Given the description of an element on the screen output the (x, y) to click on. 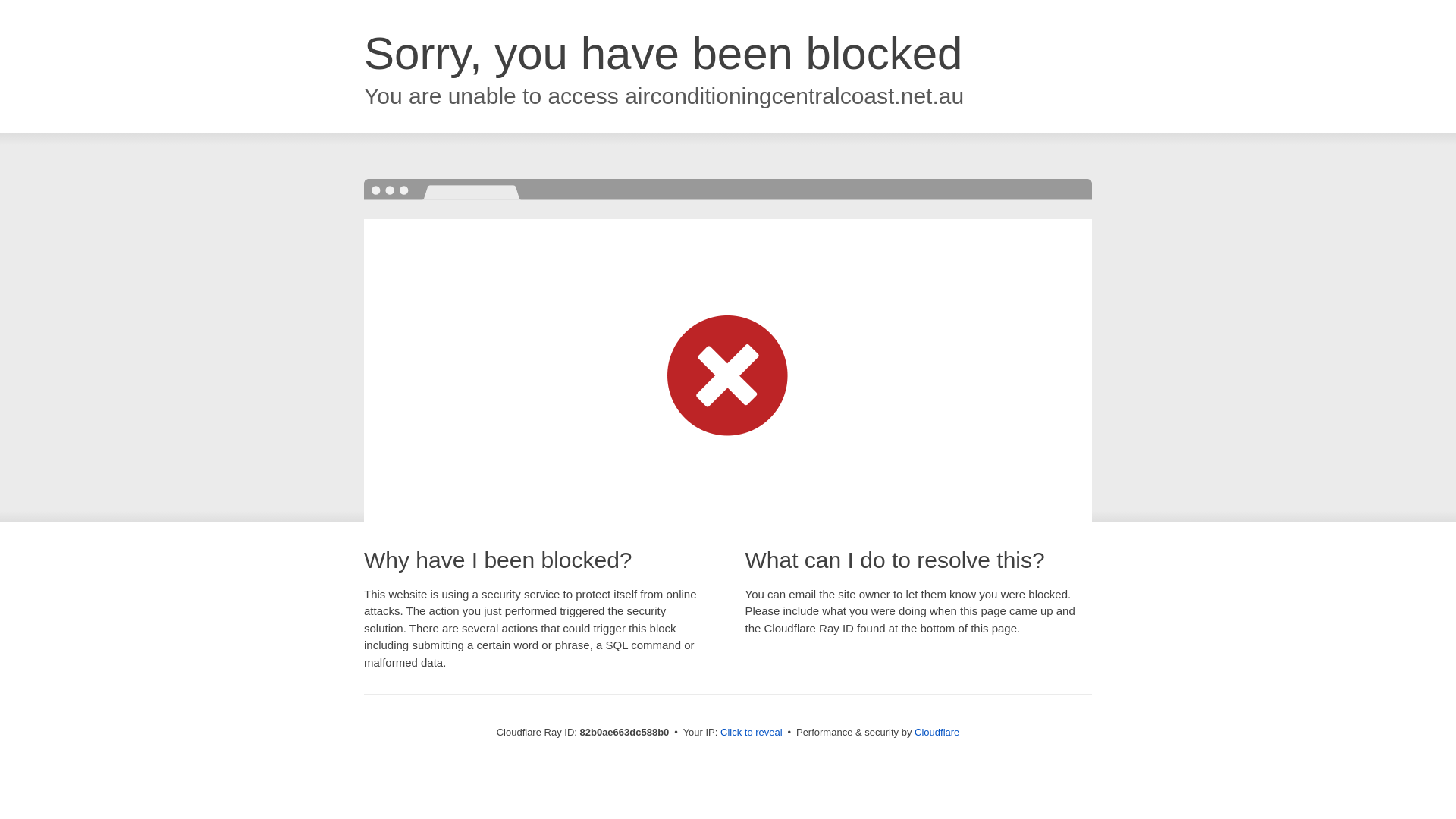
Cloudflare Element type: text (936, 731)
Click to reveal Element type: text (751, 732)
